Given the description of an element on the screen output the (x, y) to click on. 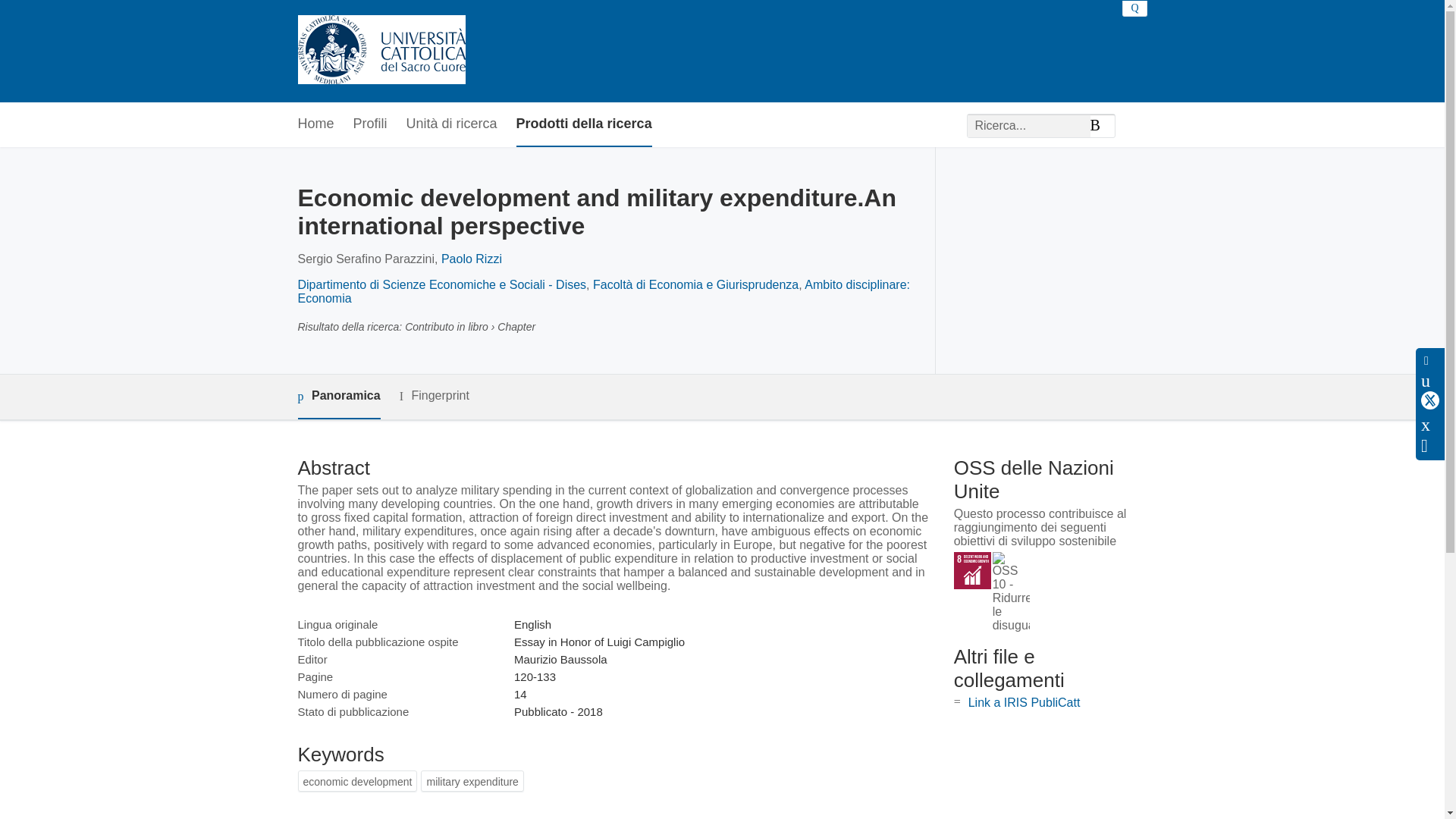
Paolo Rizzi (471, 258)
Fingerprint (433, 395)
Panoramica (338, 396)
PubliRES - Publications, Research, Expertise and Skills Home (380, 50)
Dipartimento di Scienze Economiche e Sociali - Dises (441, 284)
Ambito disciplinare: Economia (603, 291)
OSS 8 - Lavoro dignitoso e crescita economica (972, 570)
Prodotti della ricerca (584, 124)
Link a IRIS PubliCatt (1024, 702)
